Given the description of an element on the screen output the (x, y) to click on. 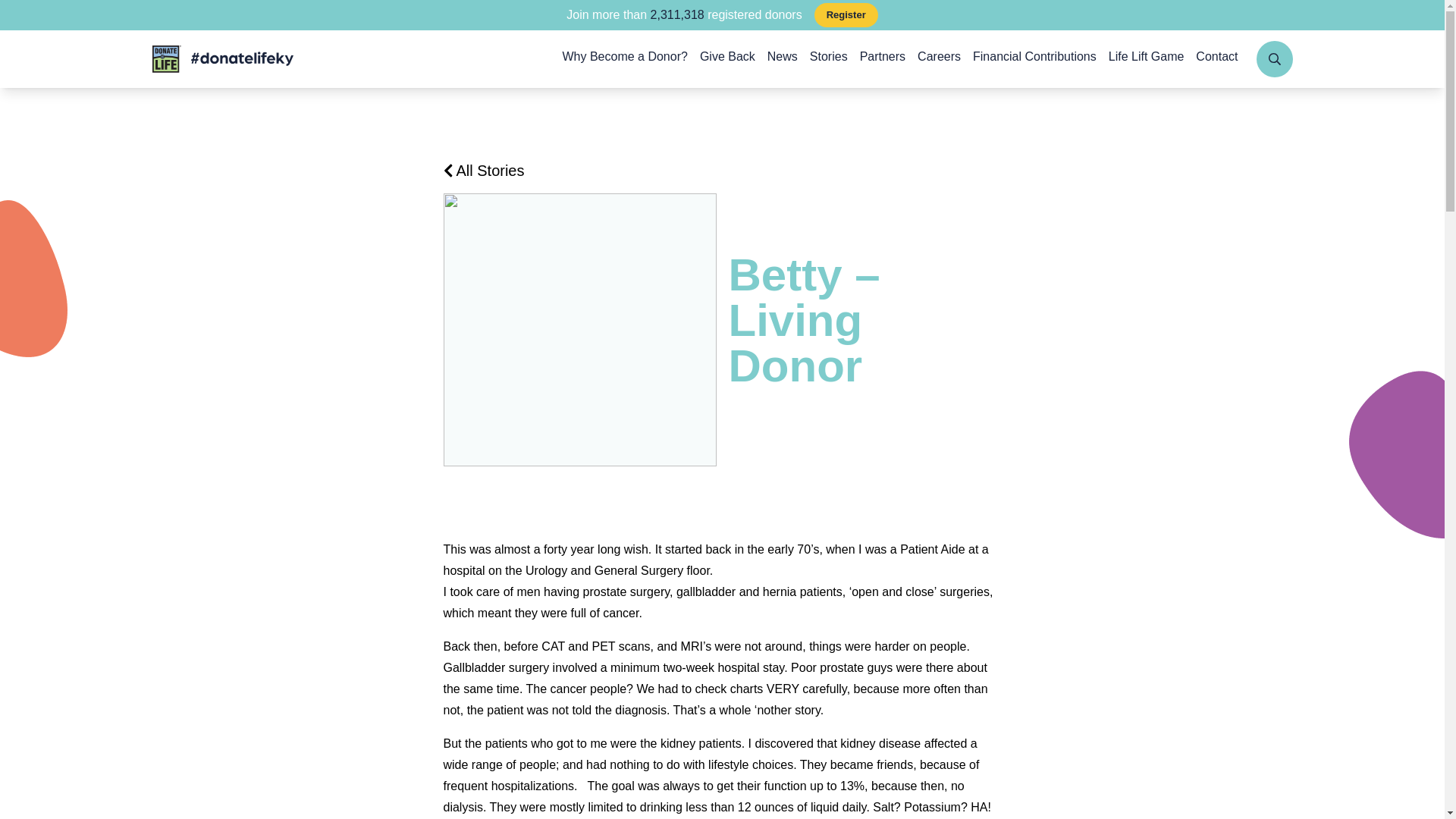
Life Lift Game (1146, 58)
Stories (828, 58)
Life Lift Game (1146, 58)
Partners (882, 58)
Donate Life KY (221, 58)
Why Become a Donor? (624, 58)
Financial Contributions (1034, 58)
Contact (1216, 58)
Financial Contributions (1034, 58)
Give Back (727, 58)
News (782, 58)
Give Back (727, 58)
Contact (1216, 58)
Partners (882, 58)
Why Become a Donor? (624, 58)
